Given the description of an element on the screen output the (x, y) to click on. 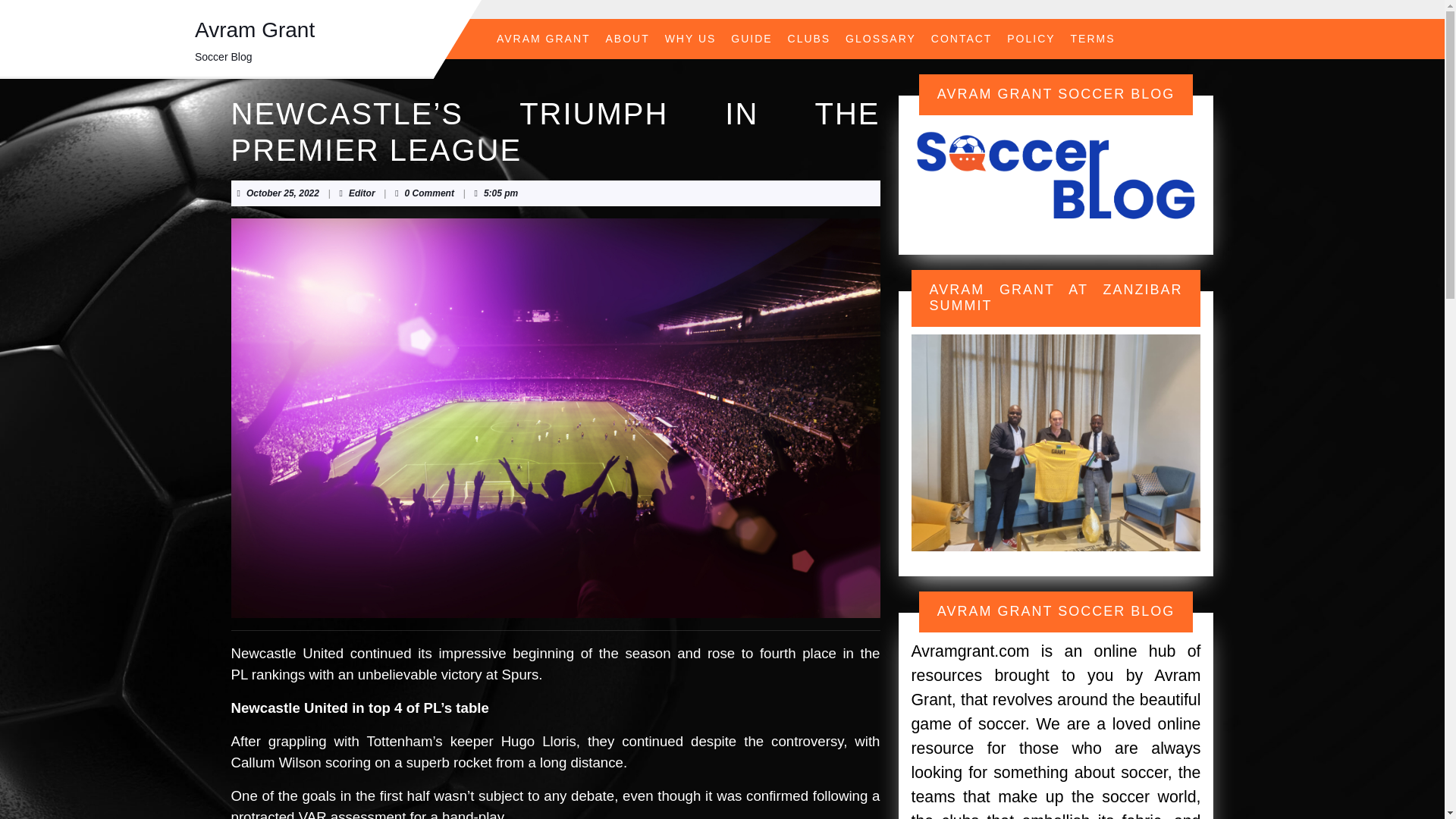
Avram Grant  (1056, 176)
GLOSSARY (880, 39)
TERMS (1092, 39)
Avram Grant at Zanzibar Summit (1056, 442)
ABOUT (627, 39)
WHY US (282, 193)
GUIDE (690, 39)
POLICY (751, 39)
CONTACT (1031, 39)
AVRAM GRANT (362, 193)
CLUBS (961, 39)
Avram Grant (543, 39)
